Given the description of an element on the screen output the (x, y) to click on. 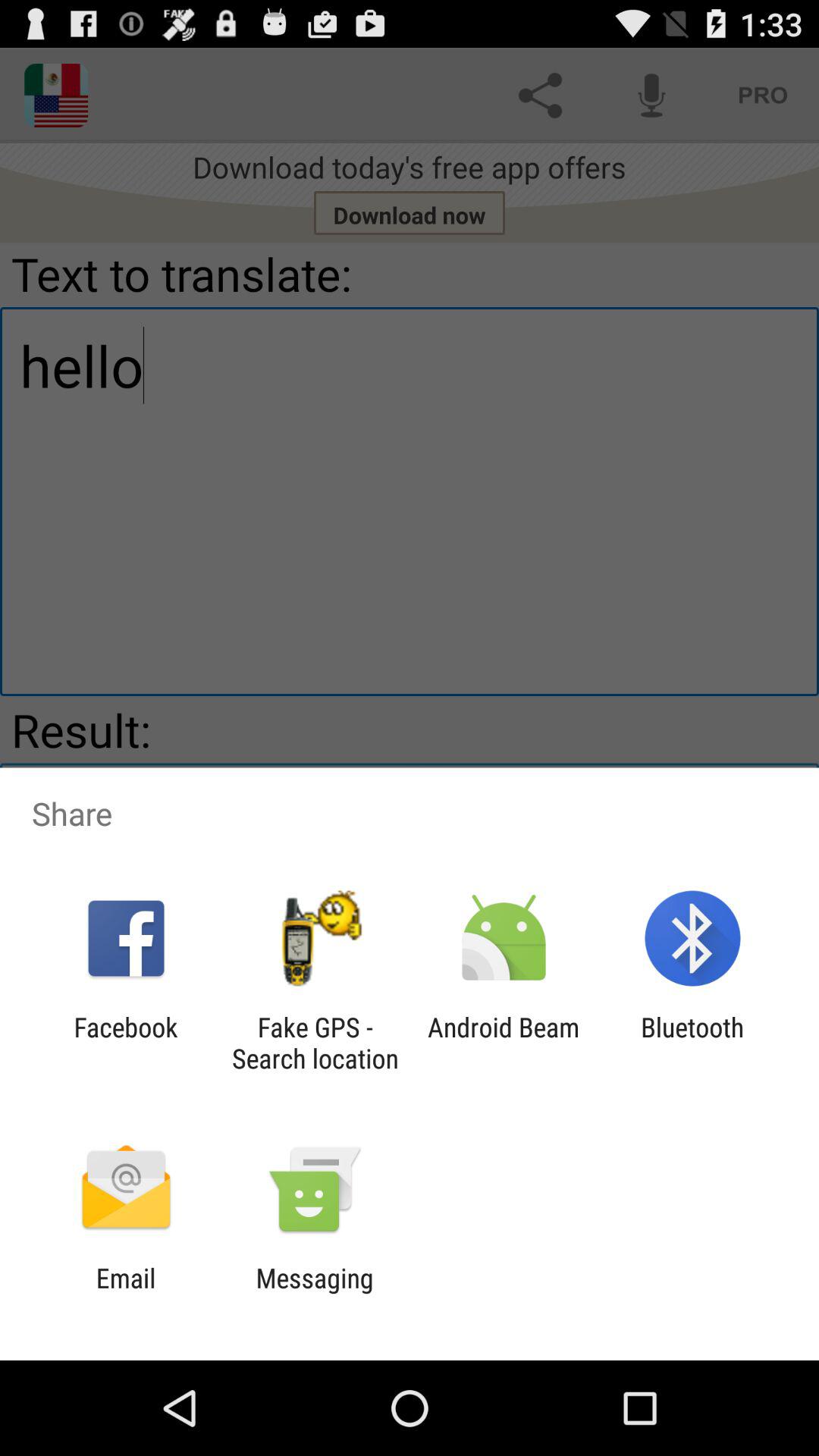
turn on the email item (125, 1293)
